Given the description of an element on the screen output the (x, y) to click on. 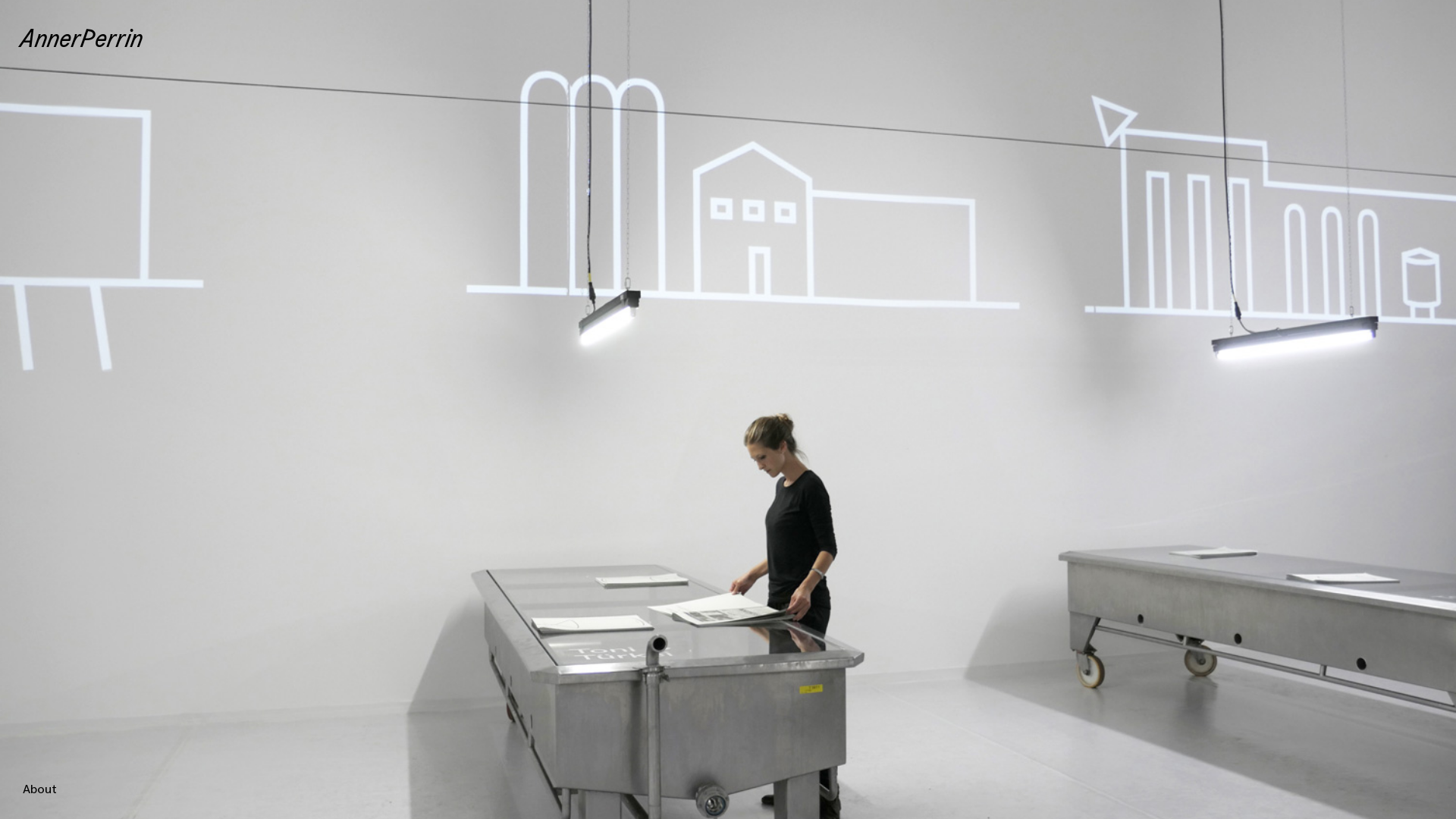
About Element type: text (39, 788)
